Given the description of an element on the screen output the (x, y) to click on. 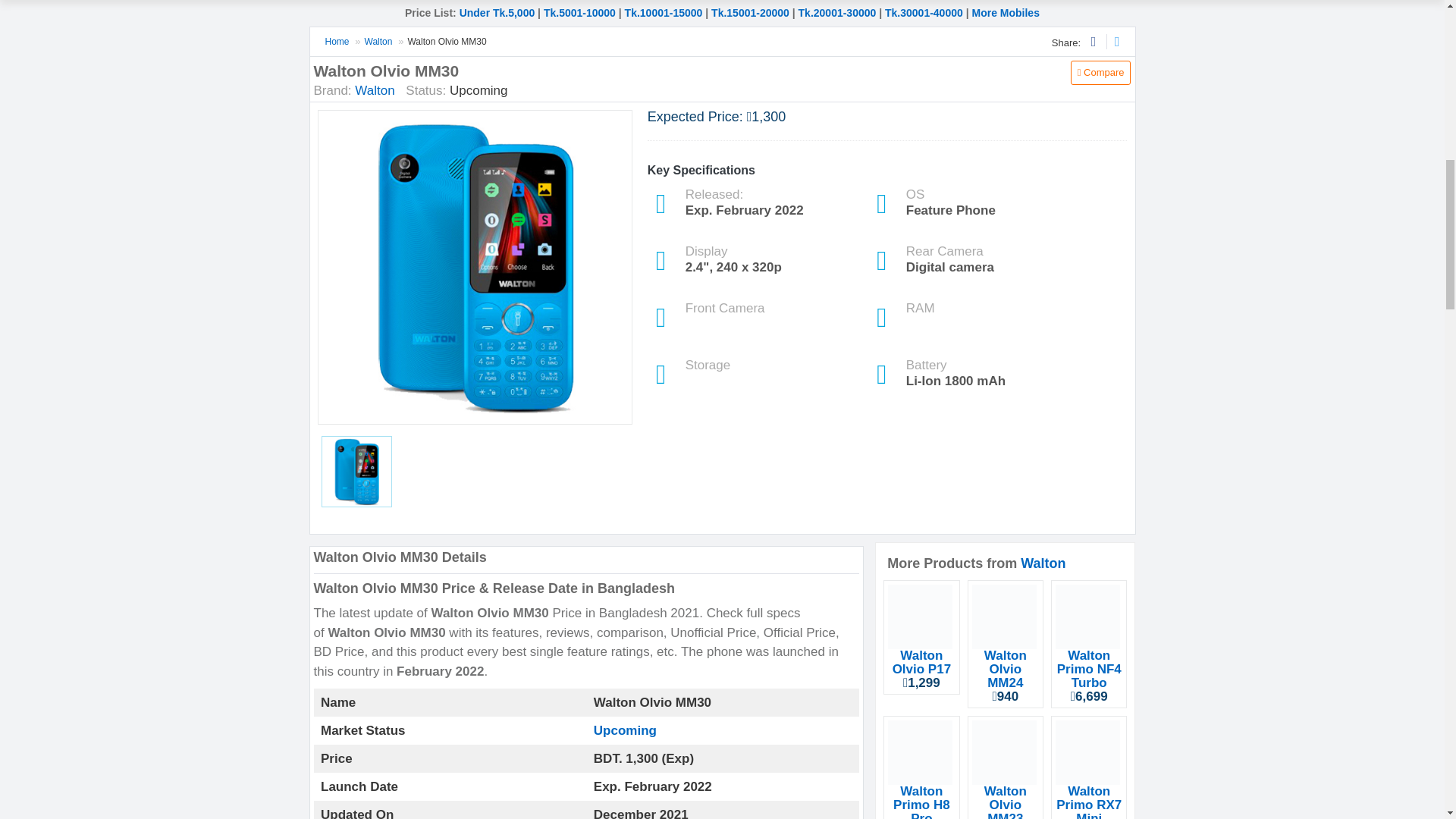
Walton (1042, 563)
Tk.10001-15000 (663, 12)
Walton Primo NF4 Turbo (1089, 669)
More Mobiles (1005, 12)
Home (336, 41)
Upcoming (625, 730)
Tk.20001-30000 (836, 12)
Walton (374, 90)
Tk.5001-10000 (579, 12)
Walton (379, 41)
